Given the description of an element on the screen output the (x, y) to click on. 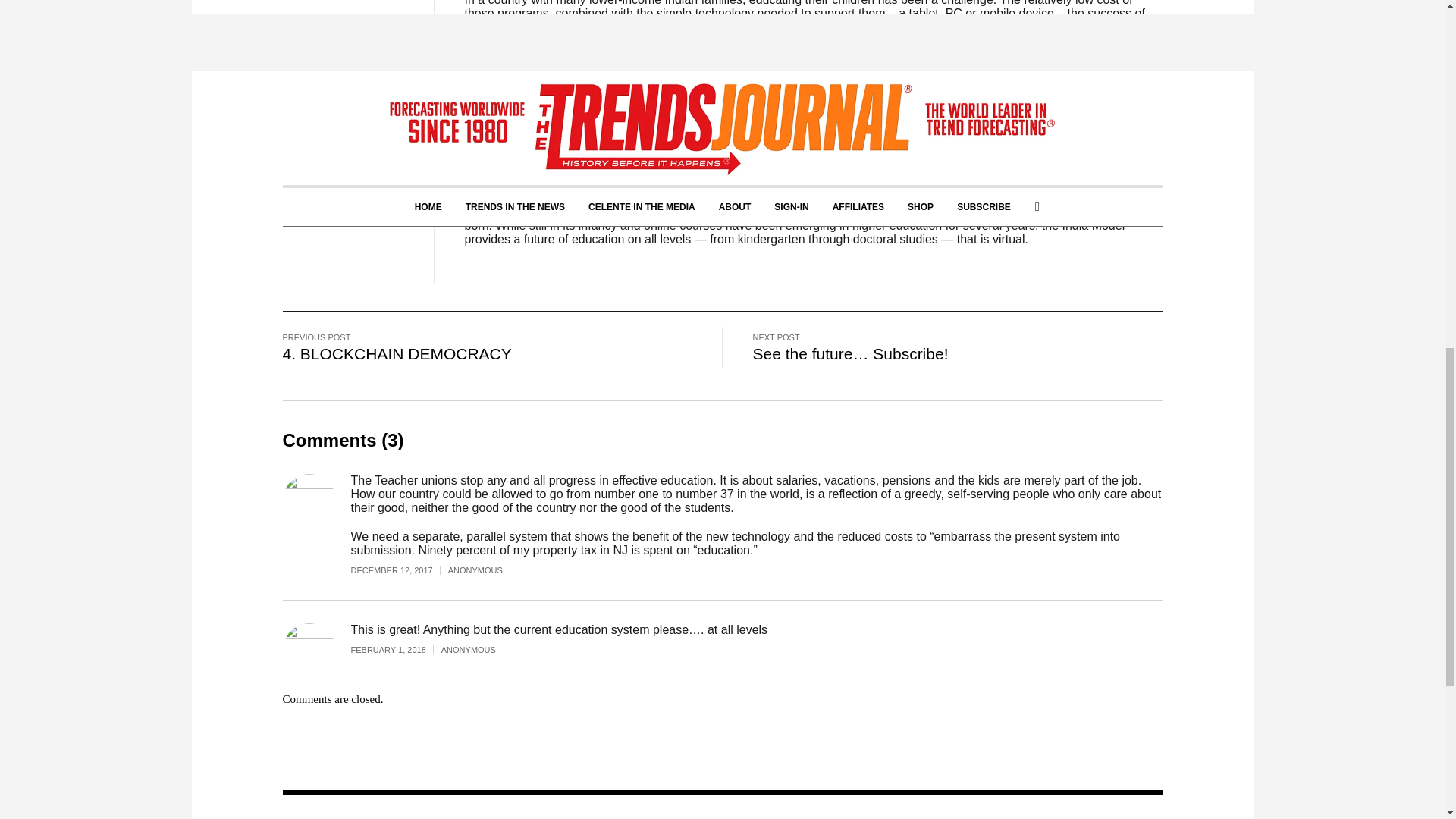
December 12, 2017 (398, 570)
February 1, 2018 (395, 649)
4. BLOCKCHAIN DEMOCRACY (396, 353)
